Given the description of an element on the screen output the (x, y) to click on. 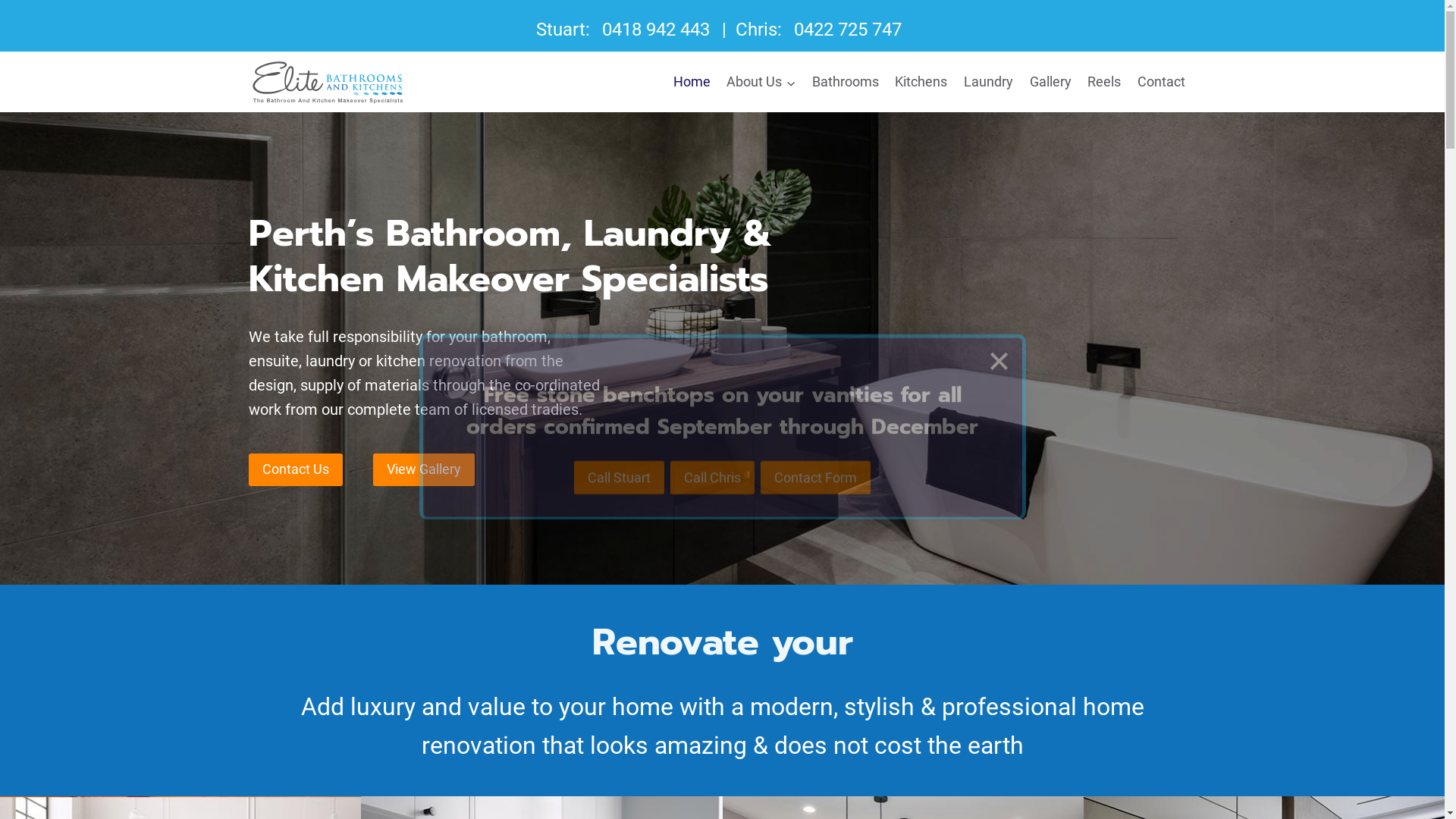
Reels Element type: text (1104, 81)
Contact Us Element type: text (295, 469)
Gallery Element type: text (1050, 81)
Home Element type: text (691, 81)
Kitchens Element type: text (921, 81)
0422 725 747 Element type: text (846, 29)
View Gallery Element type: text (423, 469)
About Us Element type: text (760, 81)
Contact Element type: text (1161, 81)
Laundry Element type: text (988, 81)
0418 942 443 Element type: text (655, 29)
Bathrooms Element type: text (845, 81)
